Given the description of an element on the screen output the (x, y) to click on. 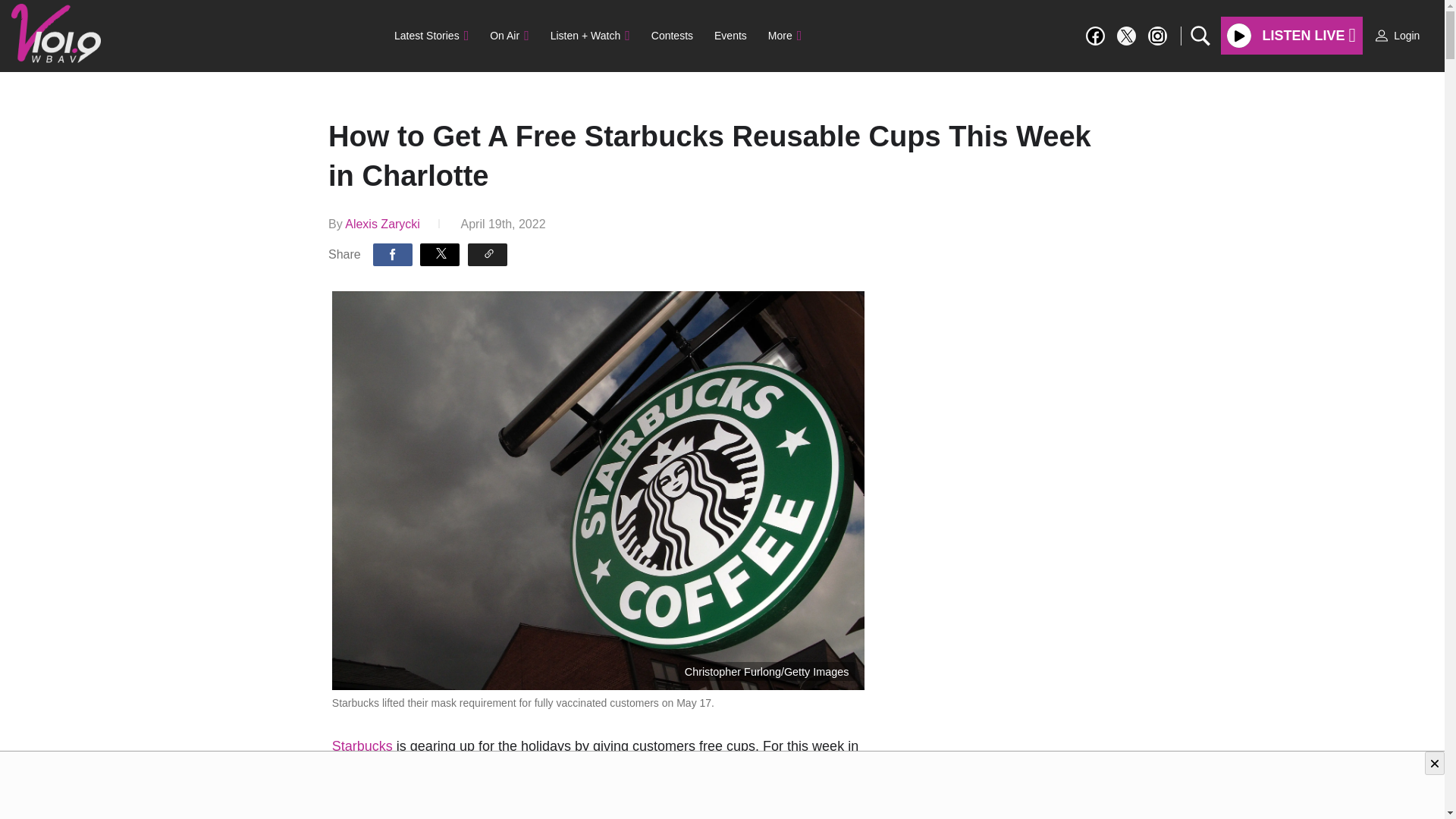
3rd party ad content (722, 785)
Alexis Zarycki (382, 223)
Close AdCheckmark indicating ad close (1434, 763)
Contests (671, 35)
Latest Stories (431, 35)
More (784, 35)
On Air (508, 35)
Events (730, 35)
